Given the description of an element on the screen output the (x, y) to click on. 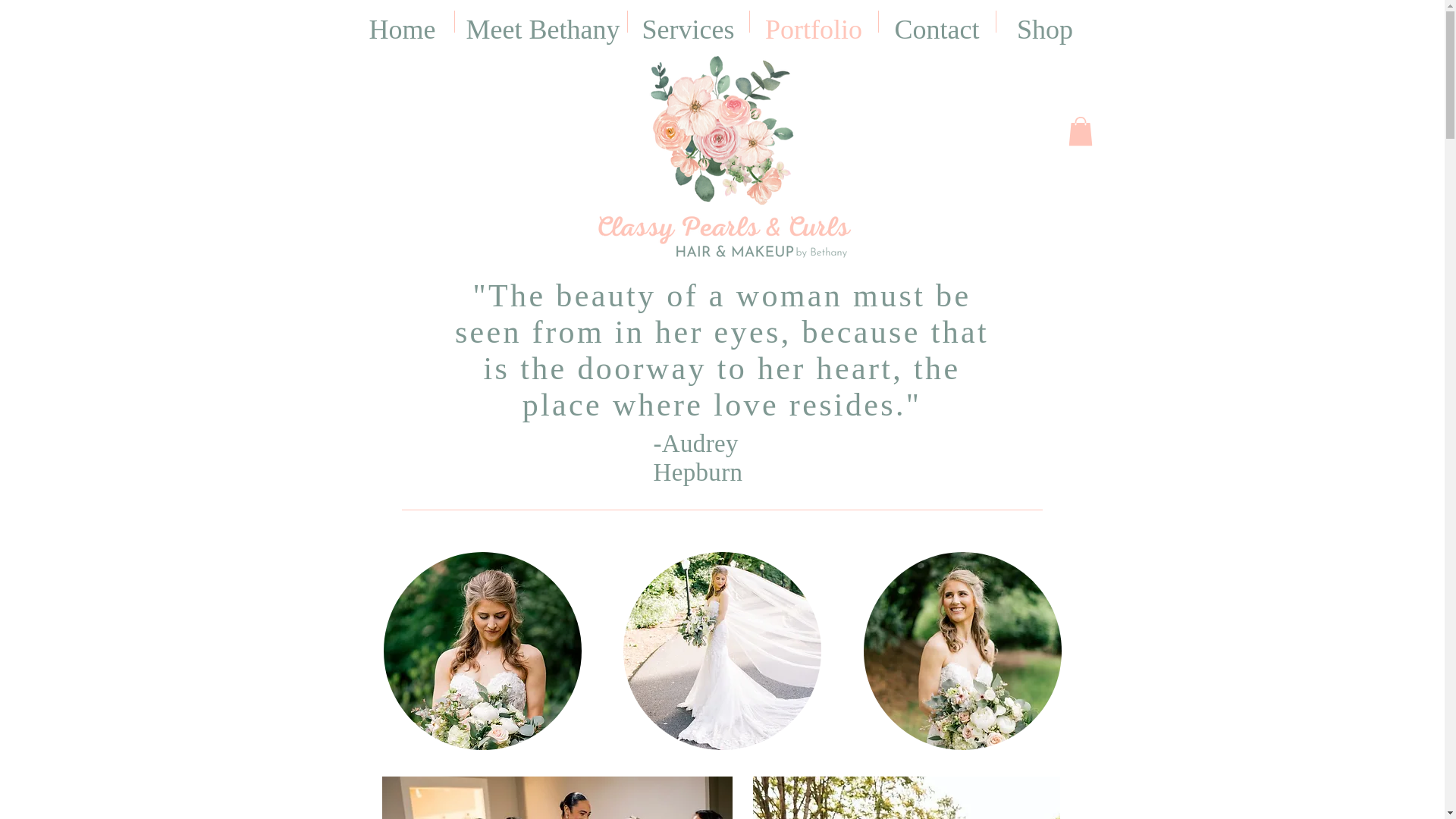
Portfolio (813, 21)
10.jpeg (905, 797)
Shop (1044, 21)
Services (688, 21)
Meet Bethany (540, 21)
1.jpeg (556, 797)
Home (401, 21)
Contact (935, 21)
